Given the description of an element on the screen output the (x, y) to click on. 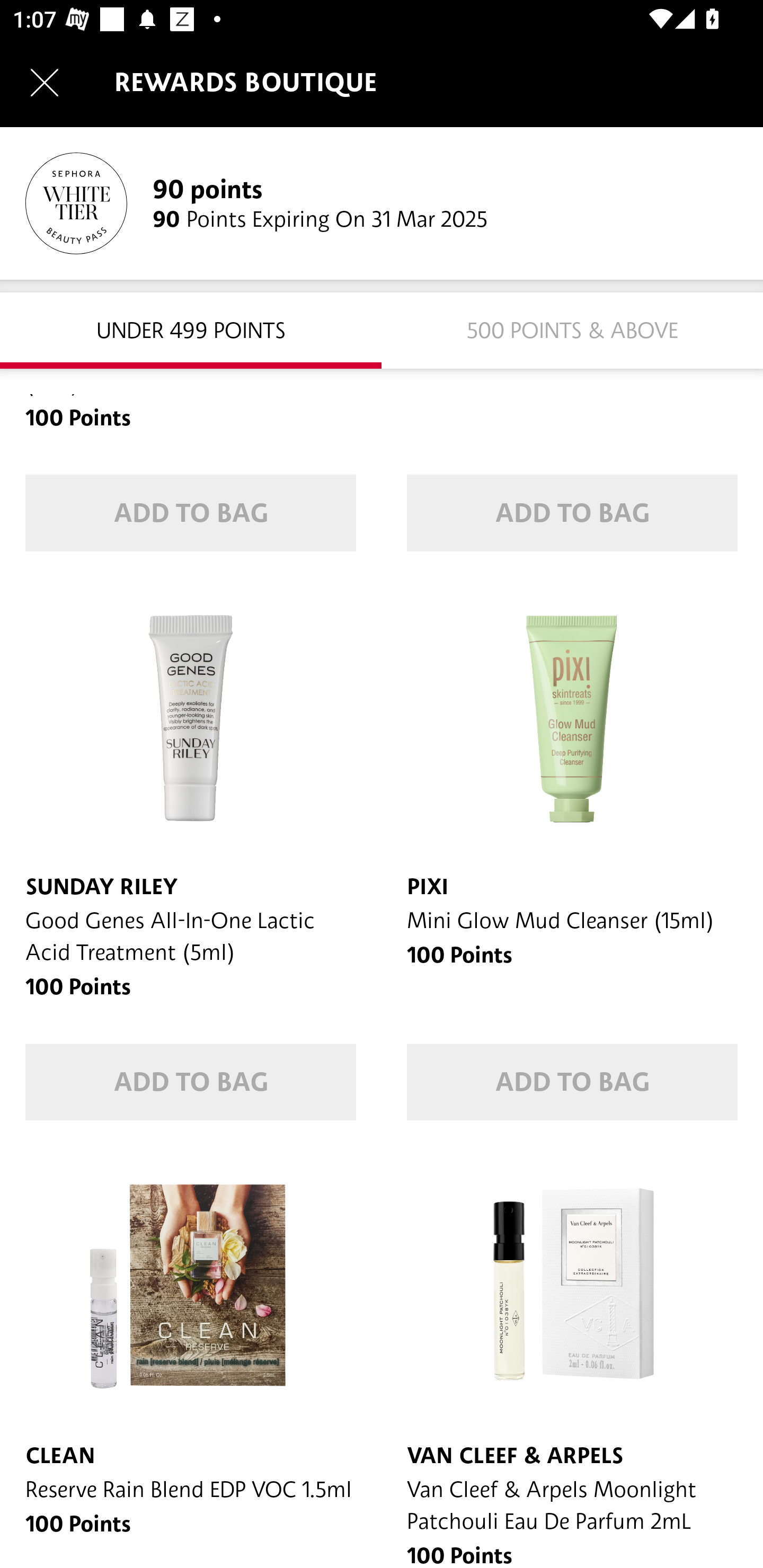
Navigate up (44, 82)
500 Points & Above 500 POINTS & ABOVE (572, 329)
100 Points ADD TO BAG (572, 485)
ADD TO BAG (190, 513)
ADD TO BAG (571, 513)
ADD TO BAG (190, 1082)
ADD TO BAG (571, 1082)
CLEAN Reserve Rain Blend EDP VOC 1.5ml 100 Points (190, 1357)
